Given the description of an element on the screen output the (x, y) to click on. 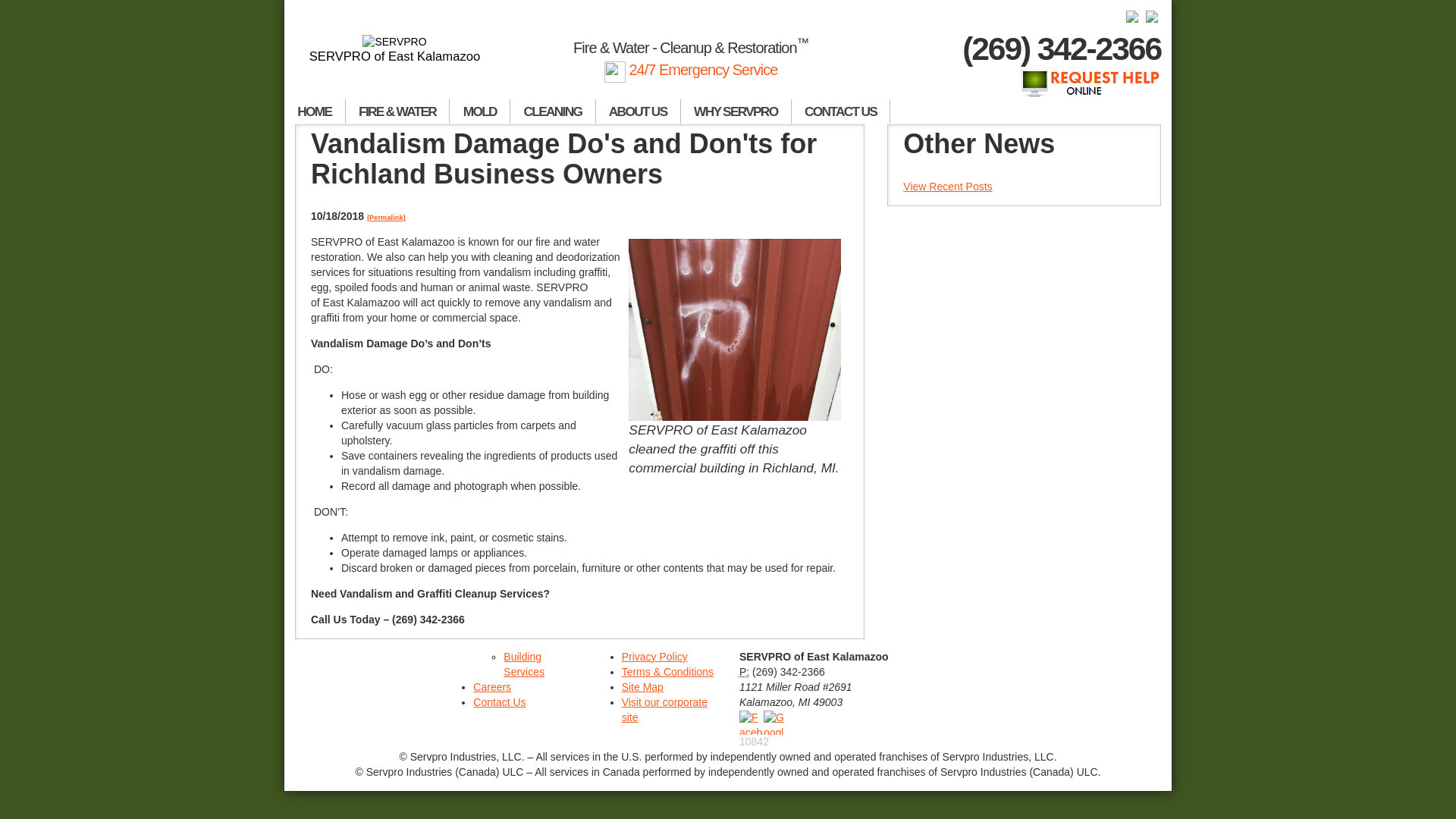
ABOUT US (638, 111)
CLEANING (553, 111)
HOME (314, 111)
MOLD (480, 111)
SERVPRO of East Kalamazoo (395, 49)
